Given the description of an element on the screen output the (x, y) to click on. 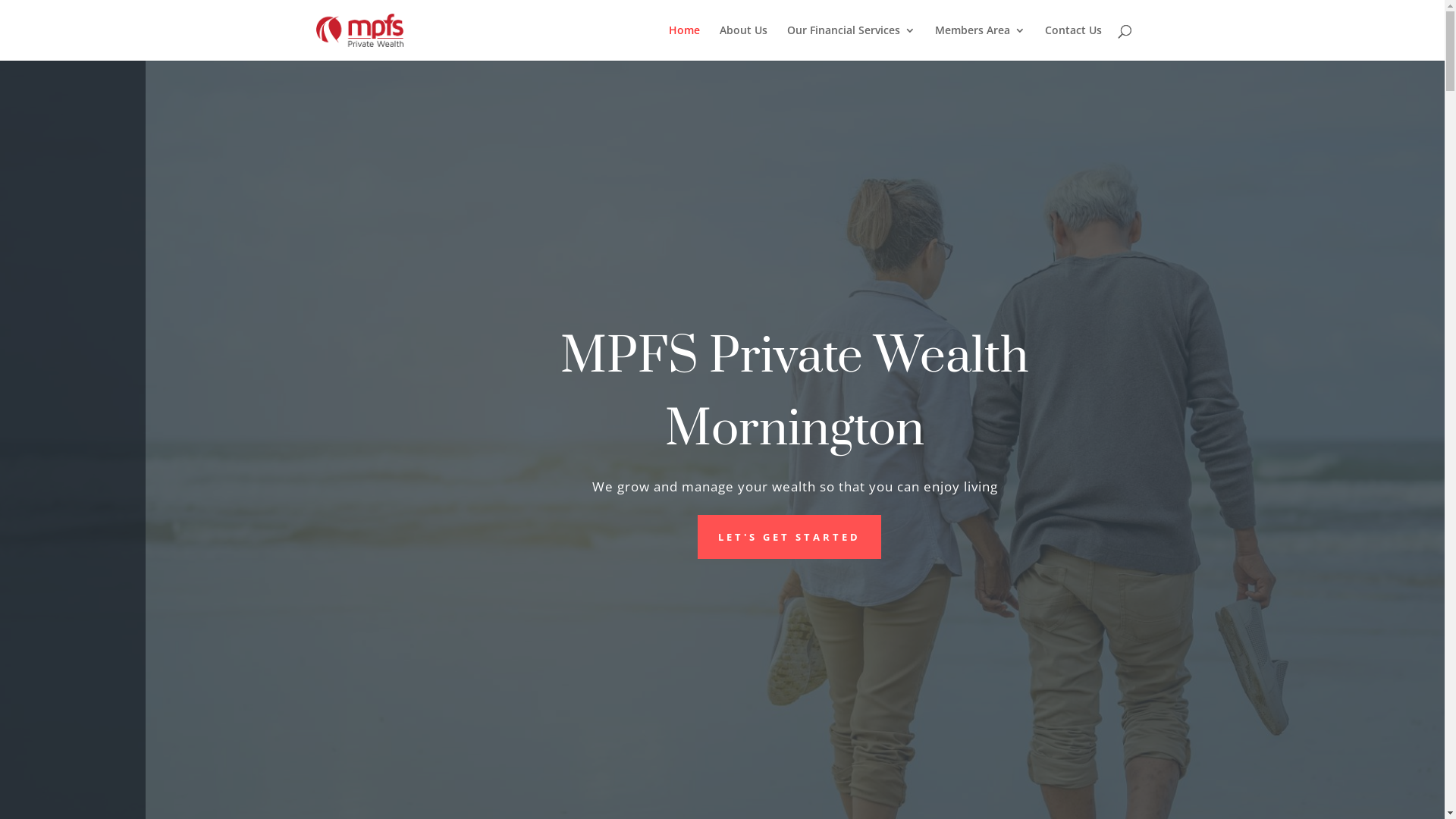
Home Element type: text (683, 42)
LET'S GET STARTED Element type: text (789, 536)
Members Area Element type: text (979, 42)
Our Financial Services Element type: text (851, 42)
About Us Element type: text (742, 42)
Contact Us Element type: text (1072, 42)
